Given the description of an element on the screen output the (x, y) to click on. 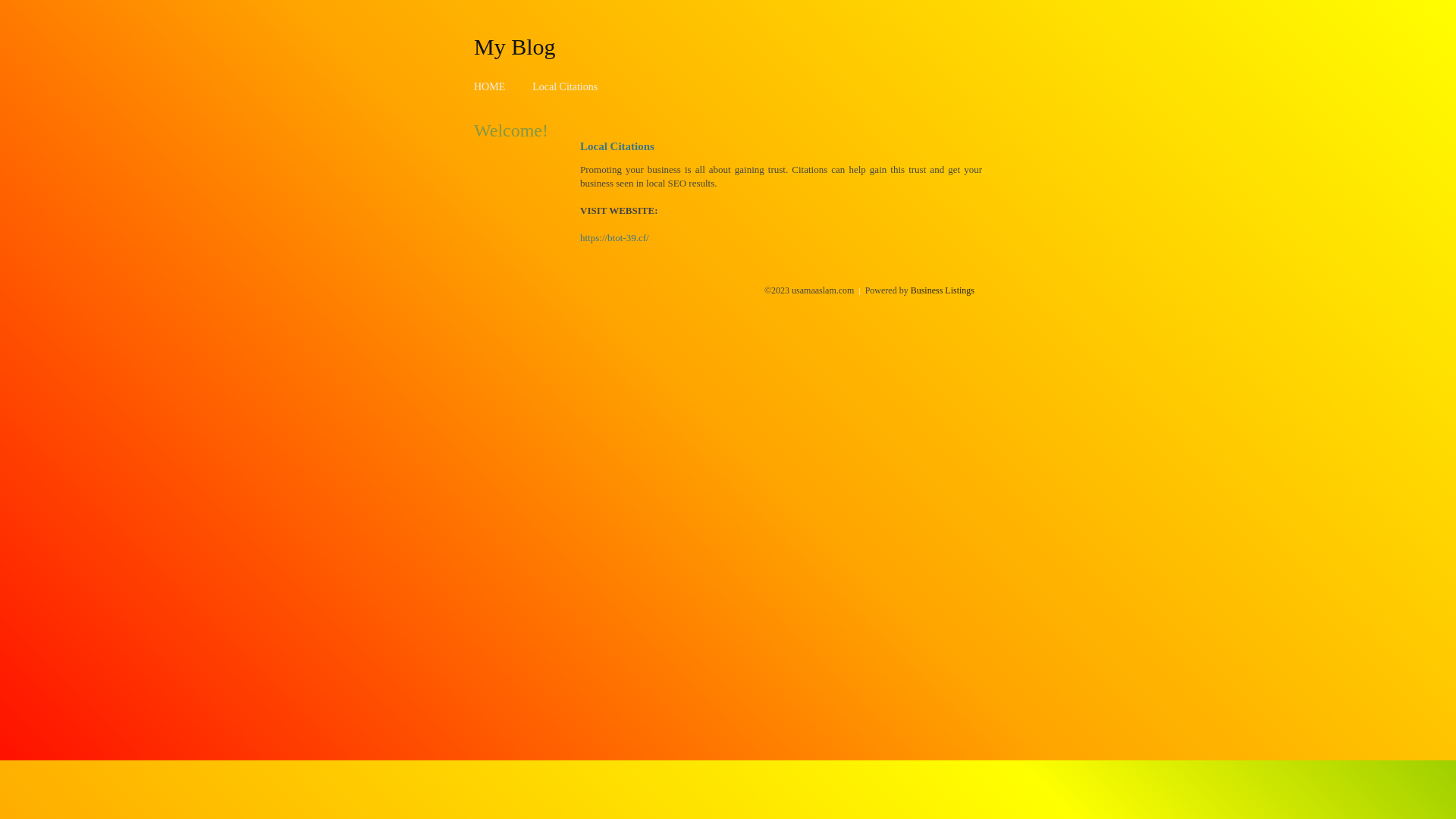
Local Citations Element type: text (564, 86)
My Blog Element type: text (514, 46)
Business Listings Element type: text (942, 290)
HOME Element type: text (489, 86)
https://btot-39.cf/ Element type: text (614, 237)
